Given the description of an element on the screen output the (x, y) to click on. 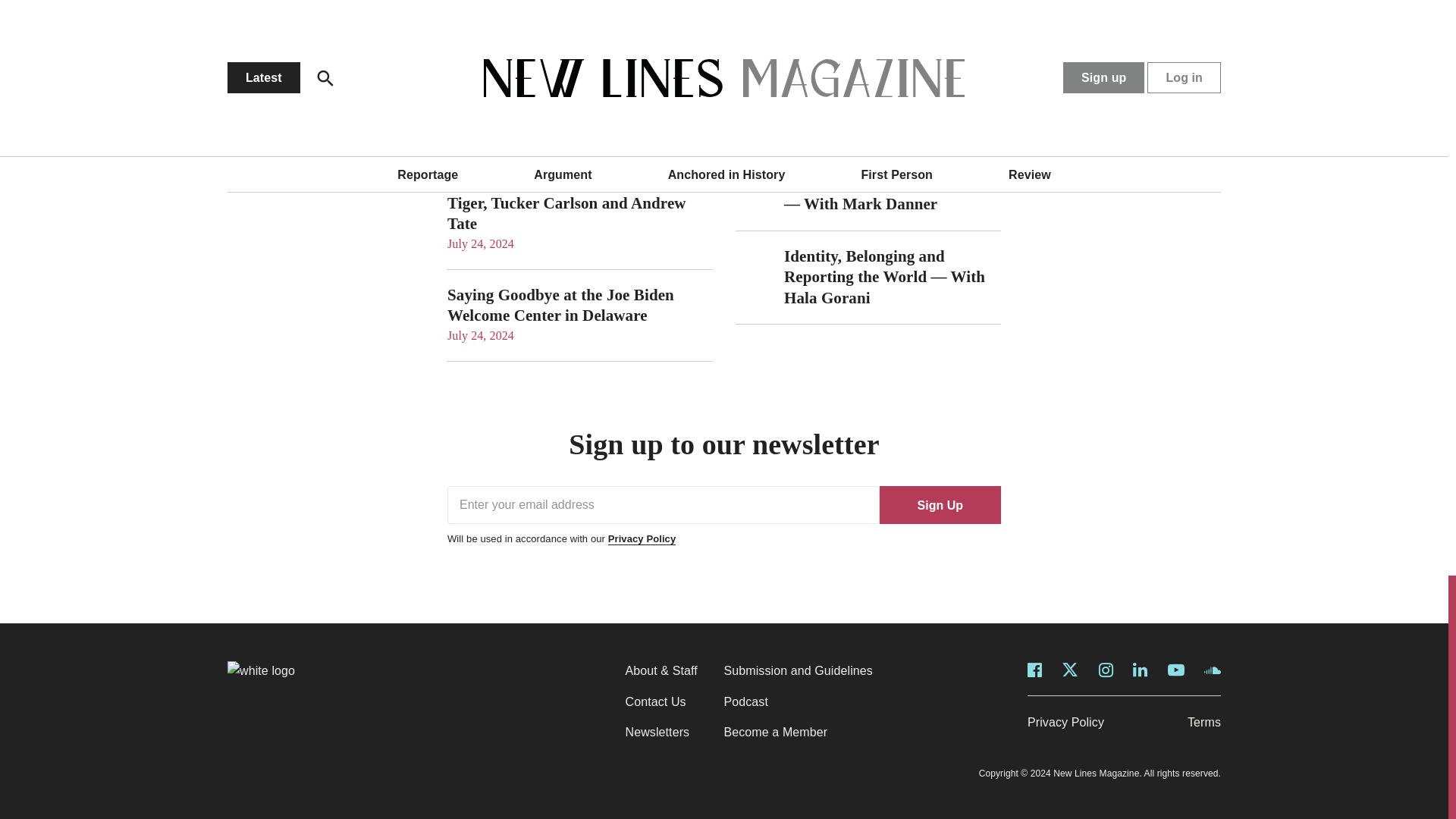
SEE ALL (980, 37)
Podcast (745, 701)
SEE ALL (692, 37)
Sign Up (940, 505)
Become a Member (775, 731)
Saying Goodbye at the Joe Biden Welcome Center in Delaware (560, 304)
Privacy Policy (642, 538)
Contact Us (654, 701)
Newsletters (656, 731)
Sign Up (940, 505)
Submission and Guidelines (797, 670)
